Given the description of an element on the screen output the (x, y) to click on. 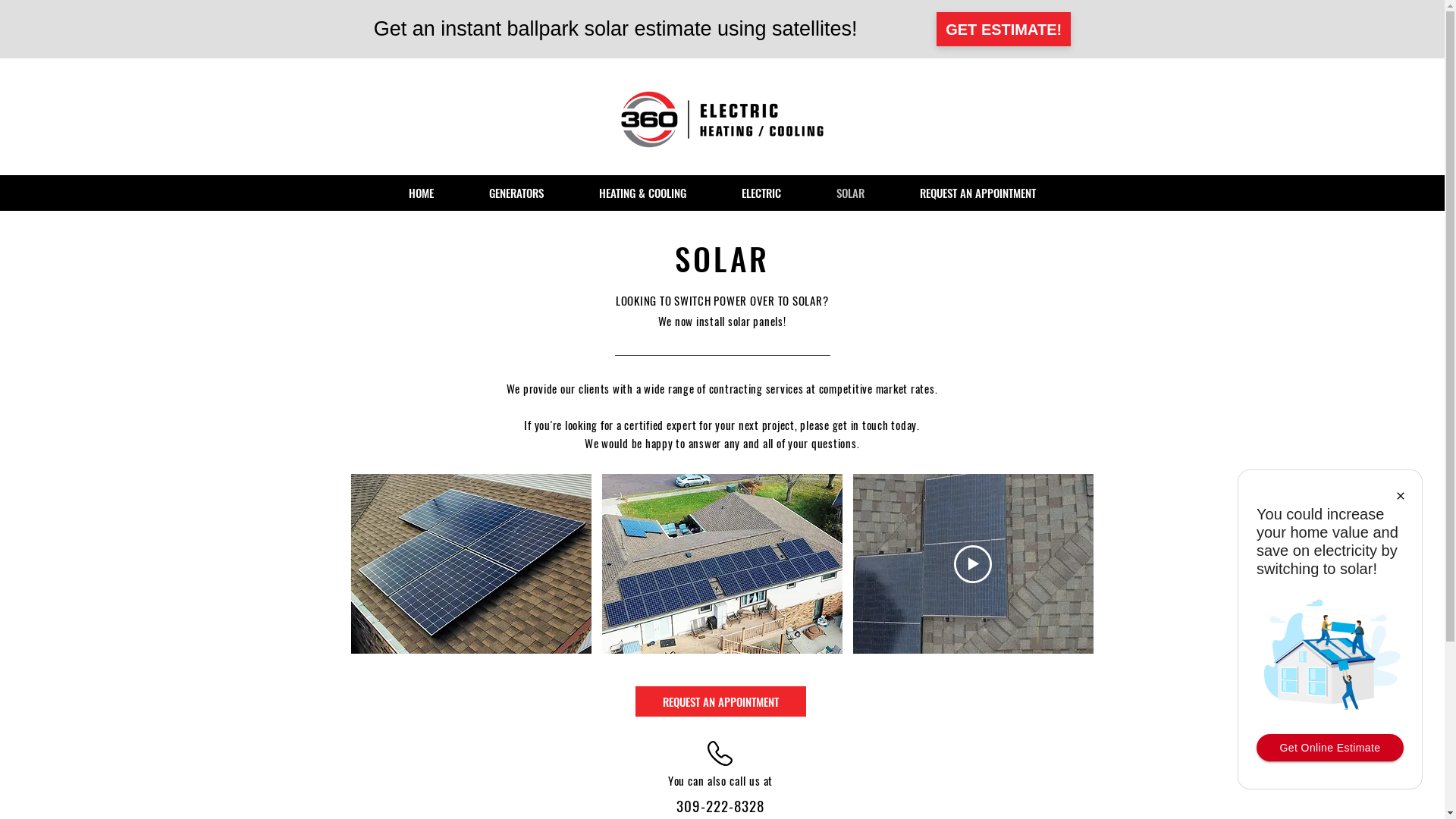
GENERATORS Element type: text (516, 192)
HOME Element type: text (420, 192)
HEATING & COOLING Element type: text (642, 192)
REQUEST AN APPOINTMENT Element type: text (977, 192)
GET ESTIMATE! Element type: text (1003, 29)
SOLAR Element type: text (849, 192)
REQUEST AN APPOINTMENT Element type: text (720, 701)
ELECTRIC Element type: text (761, 192)
